Given the description of an element on the screen output the (x, y) to click on. 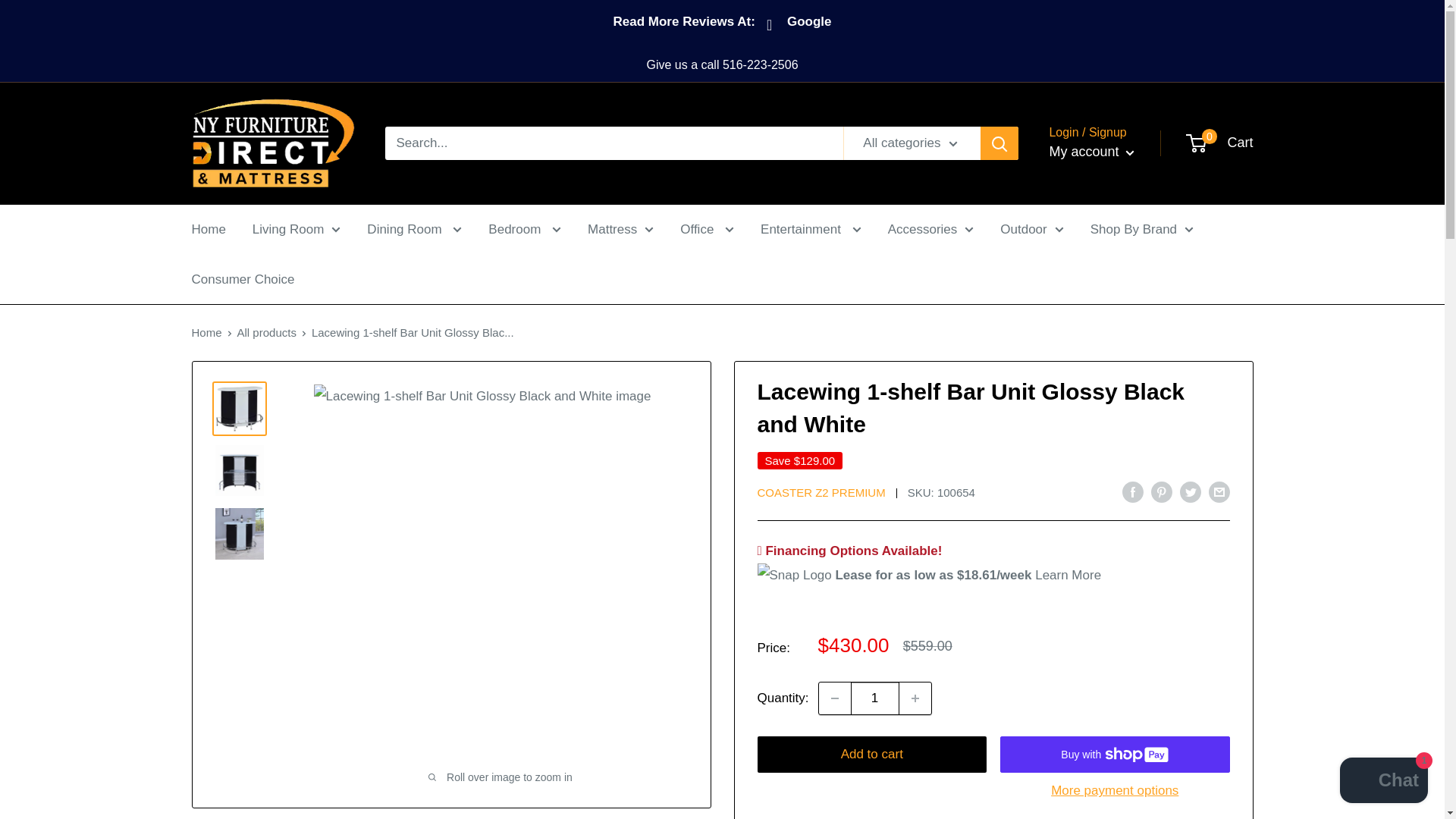
1 (874, 698)
Give us a call 516-223-2506 (721, 64)
Decrease quantity by 1 (834, 698)
Google (801, 25)
Increase quantity by 1 (915, 698)
Shopify online store chat (1383, 781)
Read More Reviews At: (683, 23)
